Given the description of an element on the screen output the (x, y) to click on. 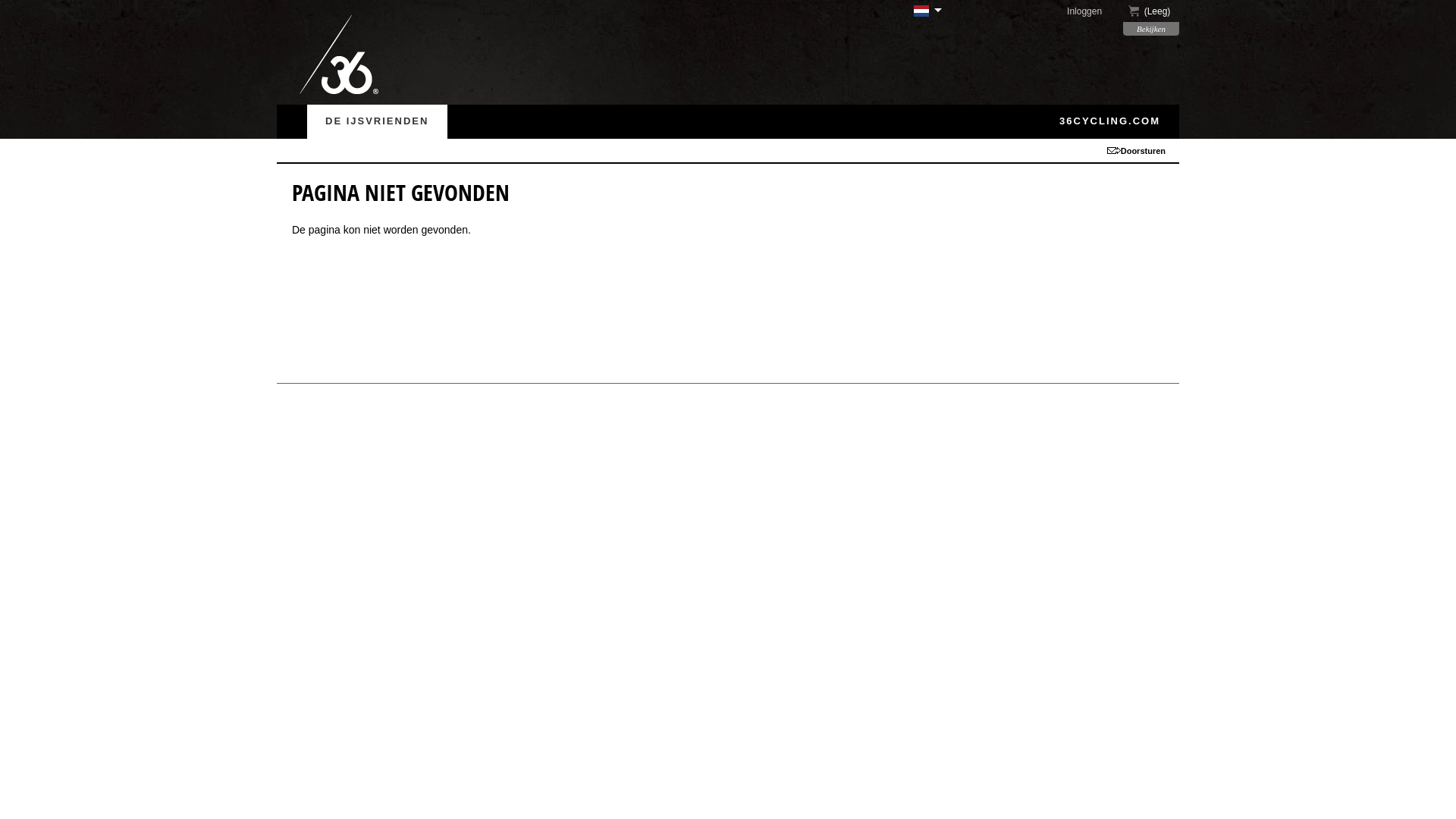
Doorsturen Element type: text (1143, 150)
(Leeg) Element type: text (1151, 11)
Inloggen Element type: text (1093, 10)
Bekijken Element type: text (1151, 28)
36CYCLING.COM Element type: text (1110, 120)
DE IJSVRIENDEN Element type: text (377, 120)
